Given the description of an element on the screen output the (x, y) to click on. 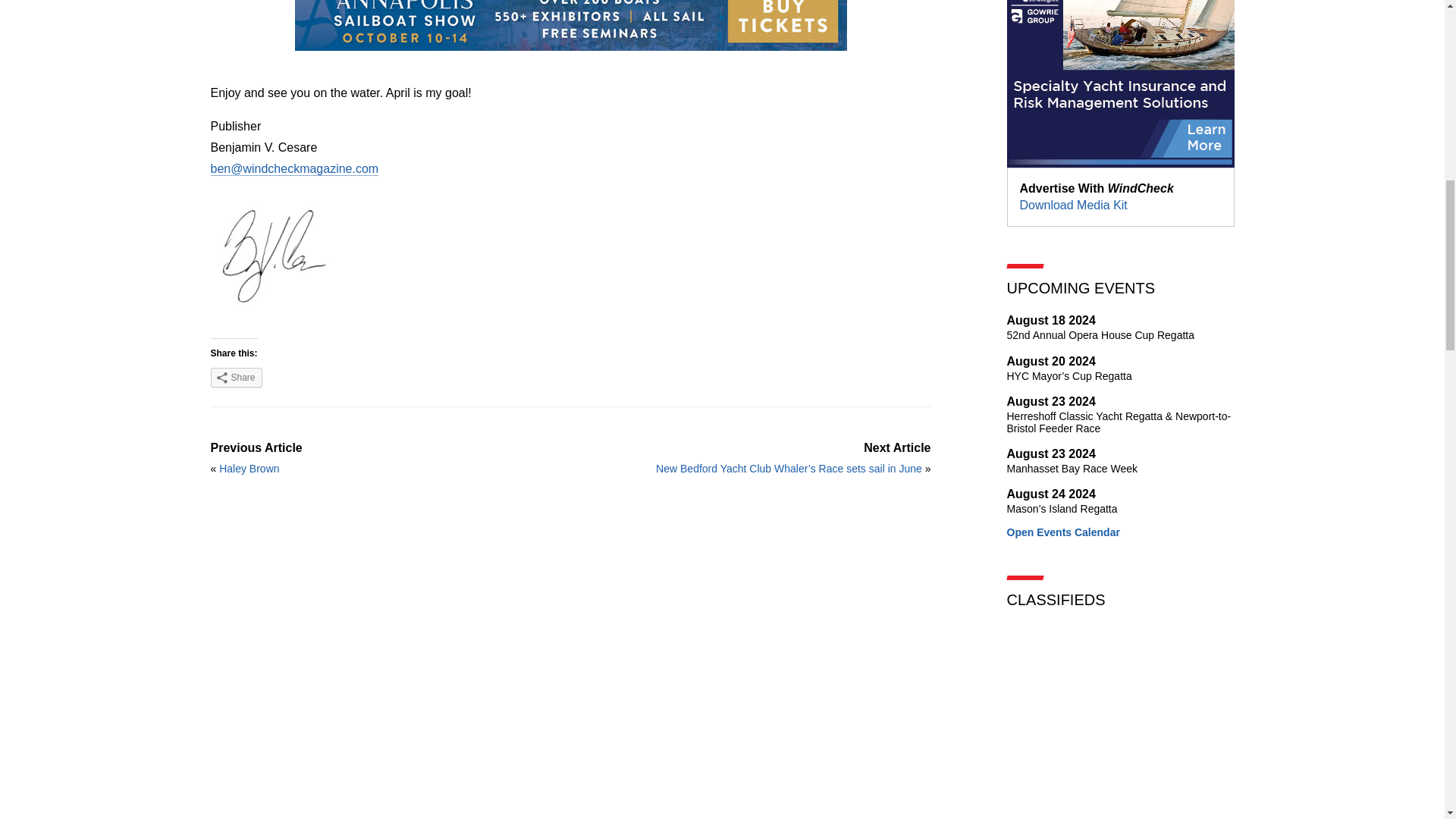
Download Media Kit (1072, 205)
Haley Brown (1120, 326)
Share (249, 468)
